Given the description of an element on the screen output the (x, y) to click on. 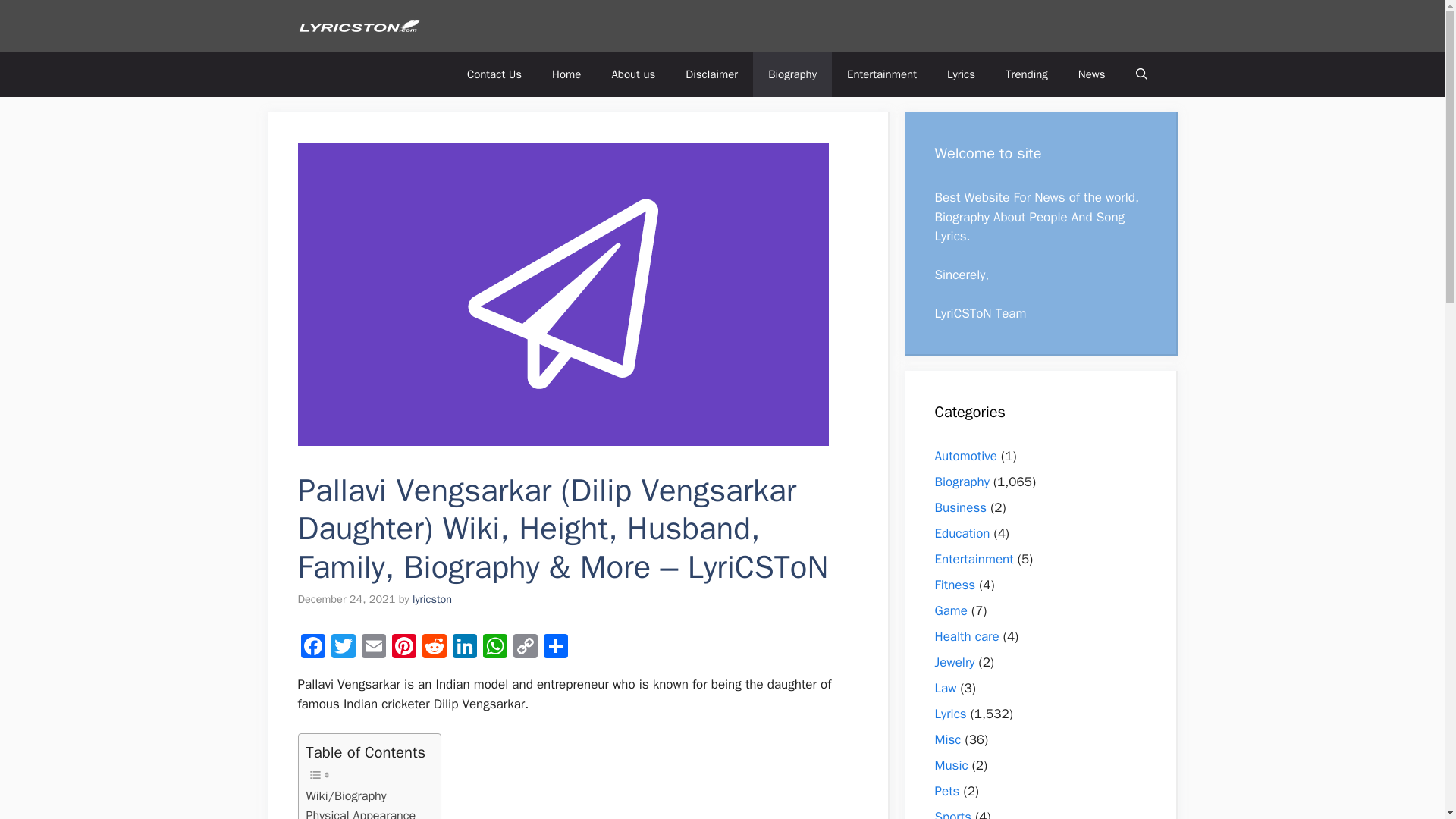
Email (373, 647)
News (1091, 74)
Disclaimer (710, 74)
Pinterest (403, 647)
Contact Us (494, 74)
Entertainment (881, 74)
LinkedIn (463, 647)
Facebook (312, 647)
View all posts by lyricston (431, 599)
Email (373, 647)
Twitter (342, 647)
Physical Appearance (360, 812)
Twitter (342, 647)
Copy Link (524, 647)
Facebook (312, 647)
